Given the description of an element on the screen output the (x, y) to click on. 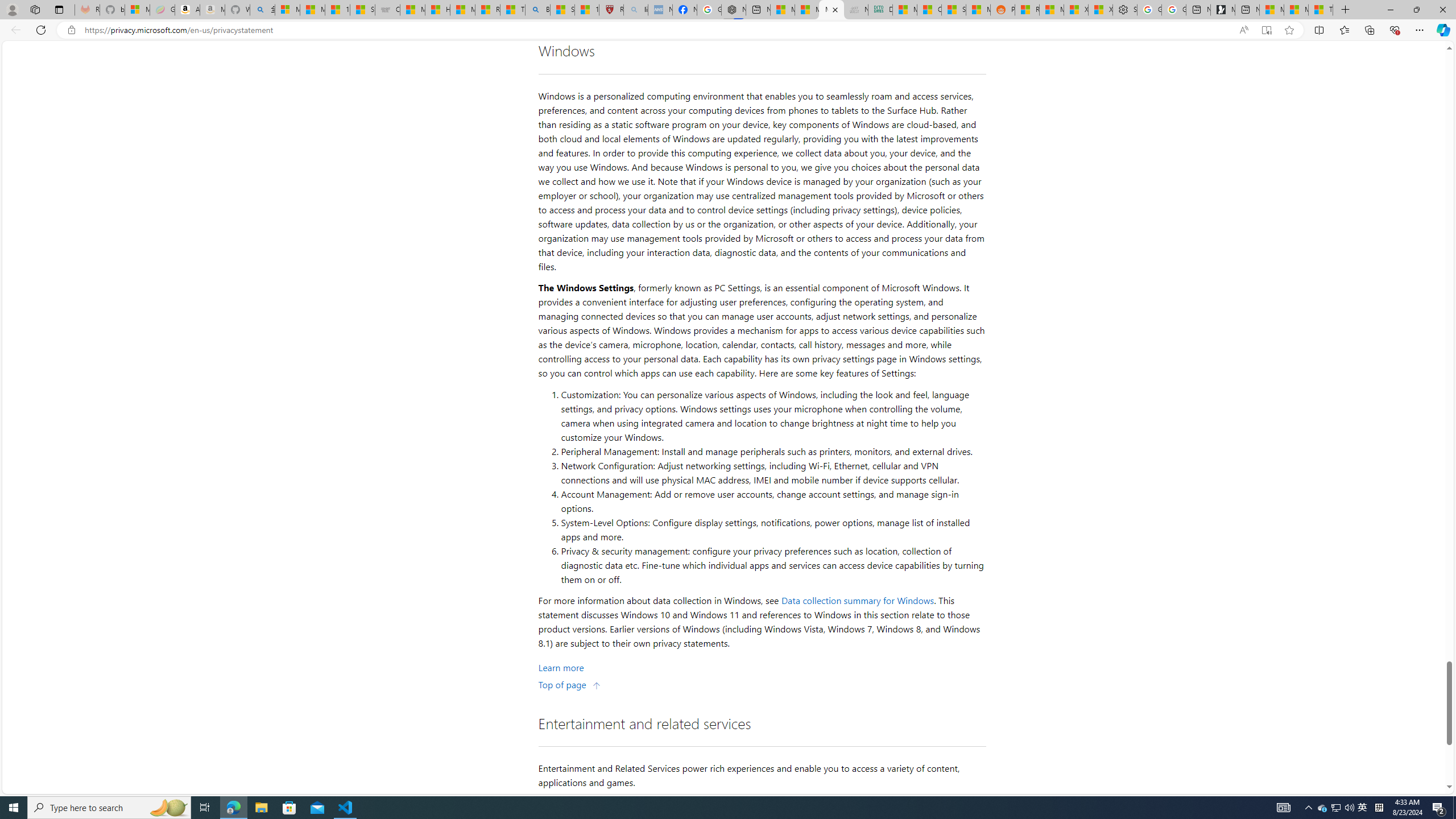
Enter Immersive Reader (F9) (1266, 29)
These 3 Stocks Pay You More Than 5% to Own Them (1320, 9)
